Given the description of an element on the screen output the (x, y) to click on. 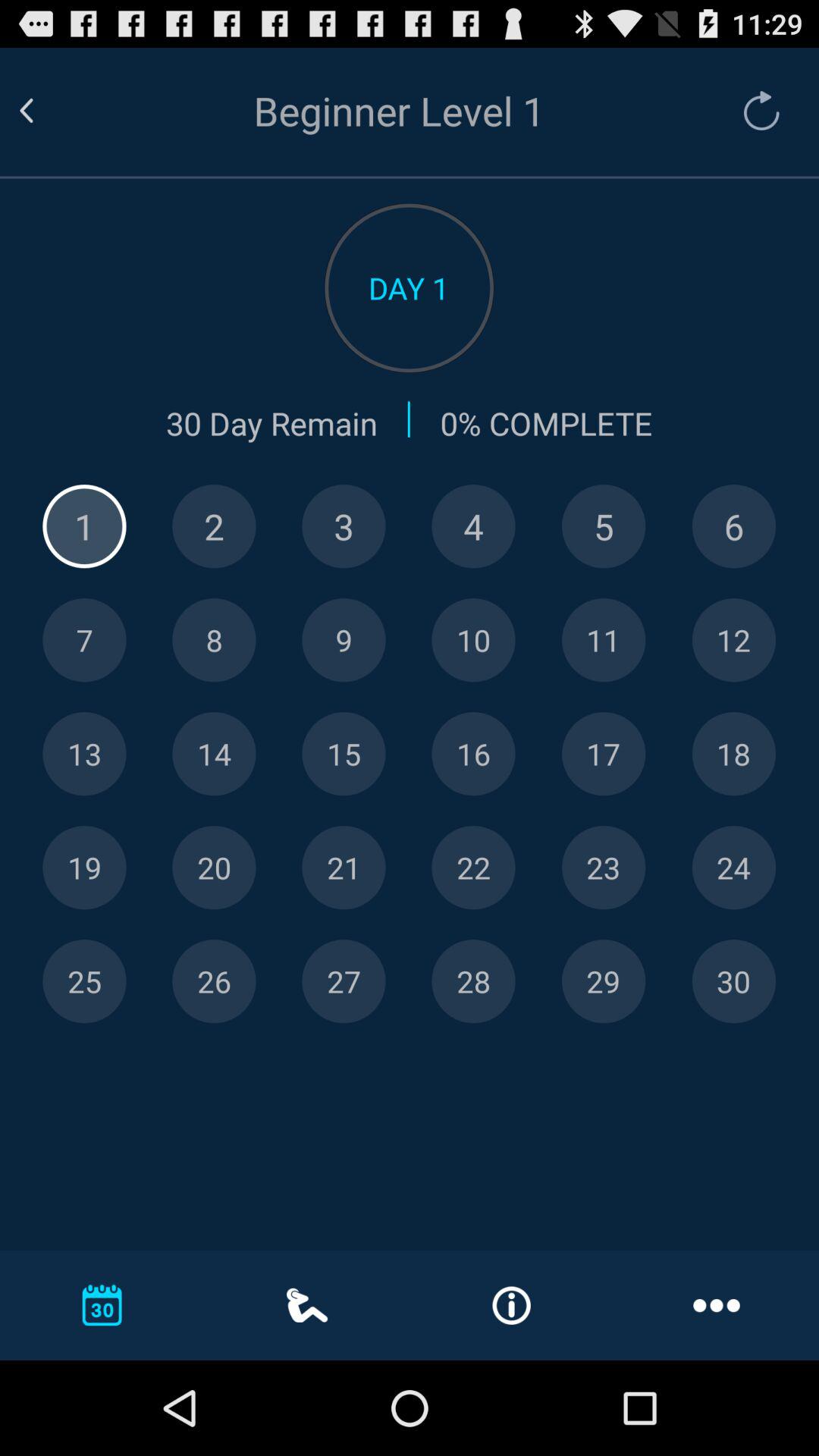
display day 6 (733, 526)
